Given the description of an element on the screen output the (x, y) to click on. 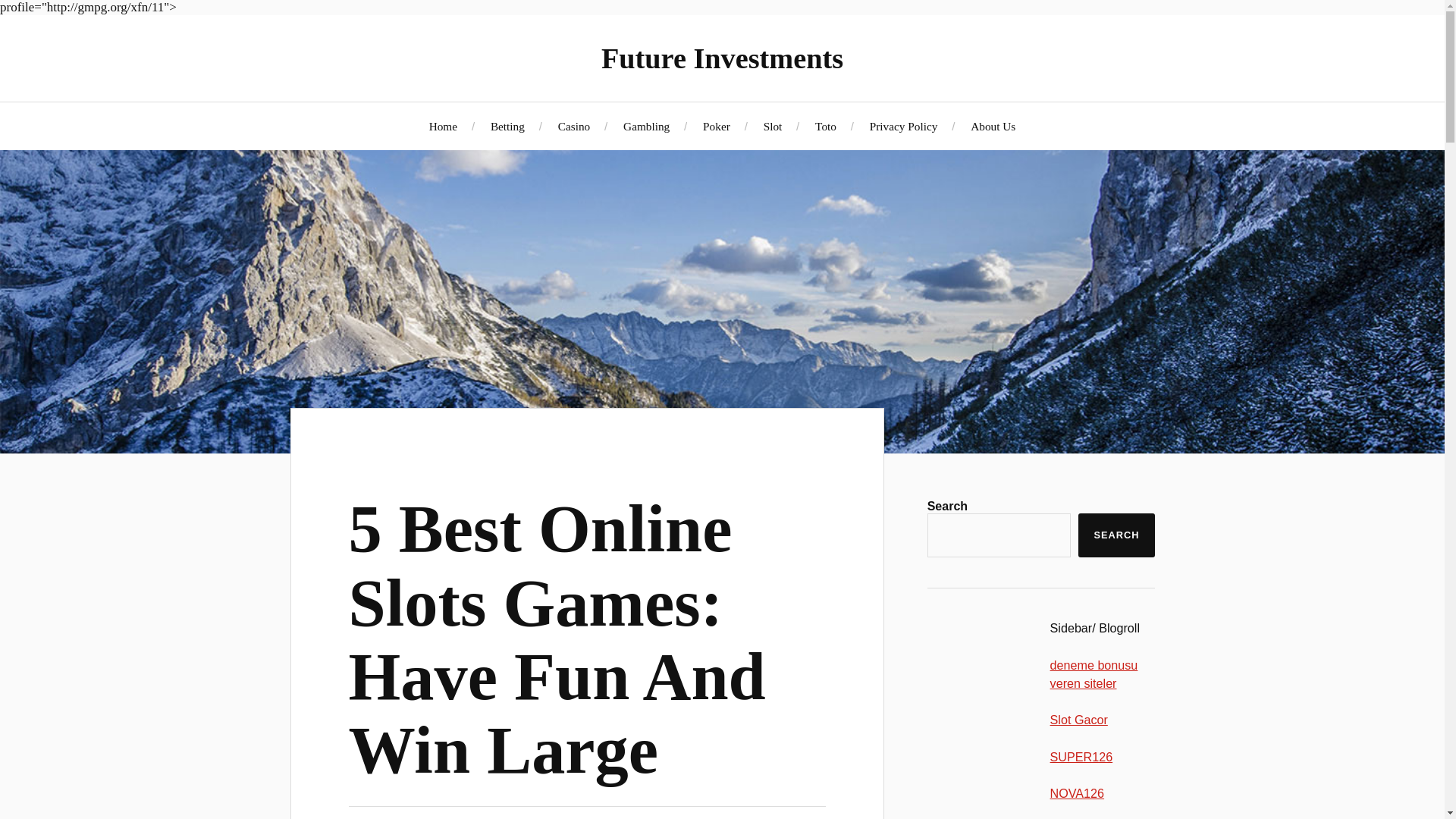
Poker (716, 125)
deneme bonusu veren siteler (1093, 674)
SUPER126 (1081, 756)
About Us (992, 125)
Gambling (646, 125)
NOVA126 (1076, 793)
Toto (825, 125)
Home (443, 125)
Privacy Policy (903, 125)
Slot (772, 125)
Betting (507, 125)
Slot Gacor (1078, 719)
Casino (574, 125)
Future Investments (722, 58)
